Given the description of an element on the screen output the (x, y) to click on. 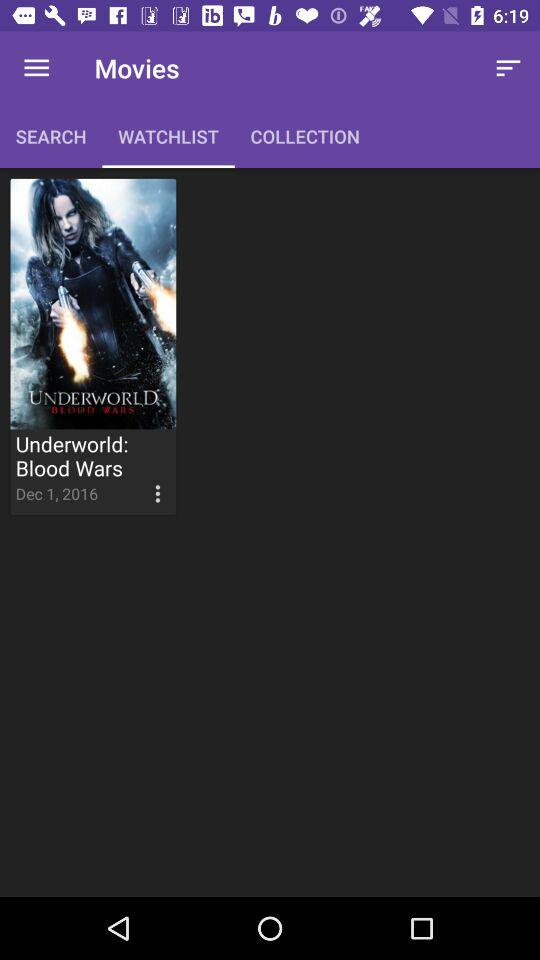
select item next to dec 1, 2016 icon (139, 477)
